Given the description of an element on the screen output the (x, y) to click on. 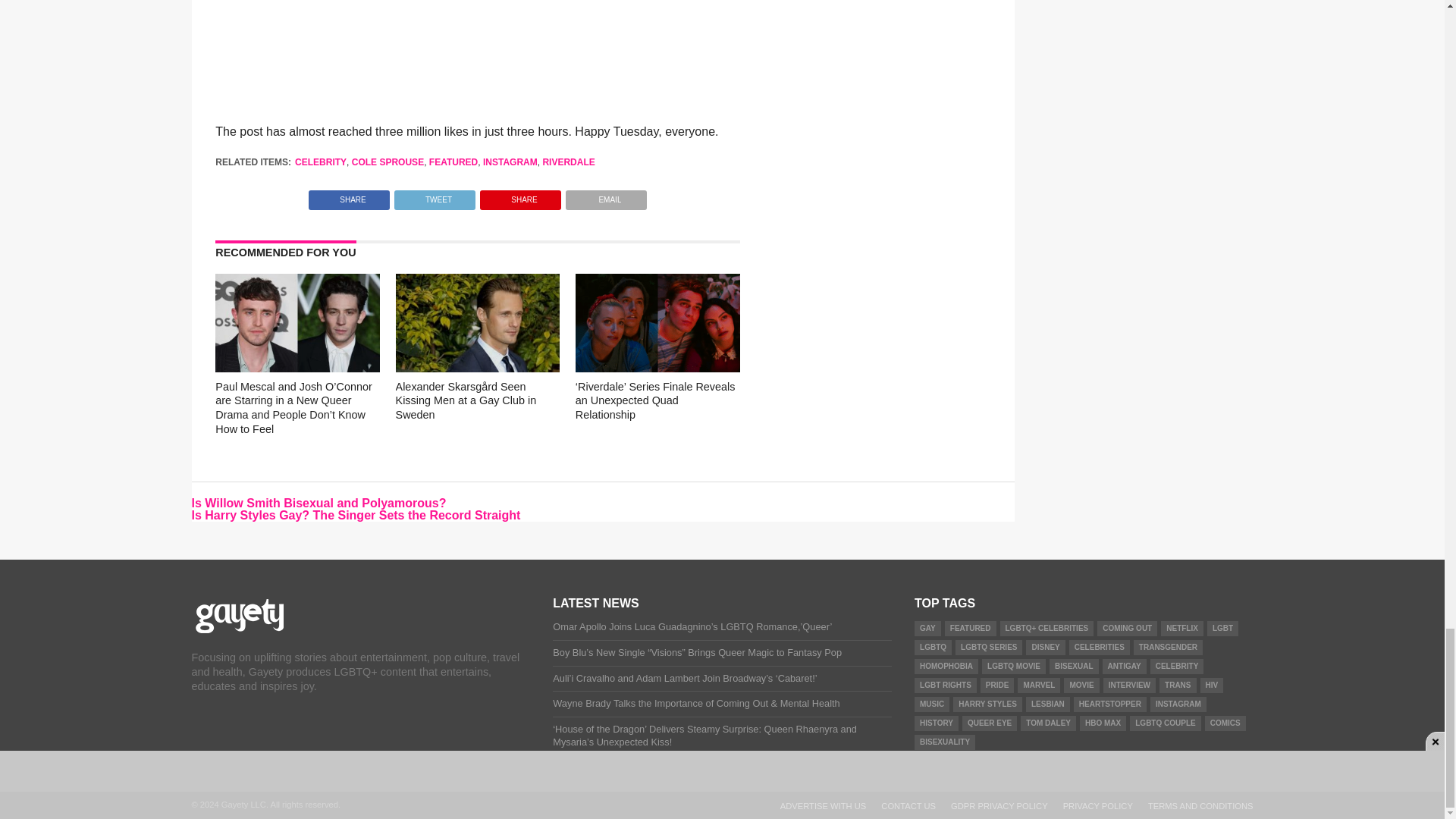
Pin This Post (520, 195)
Share on Facebook (349, 195)
Tweet This Post (434, 195)
